Given the description of an element on the screen output the (x, y) to click on. 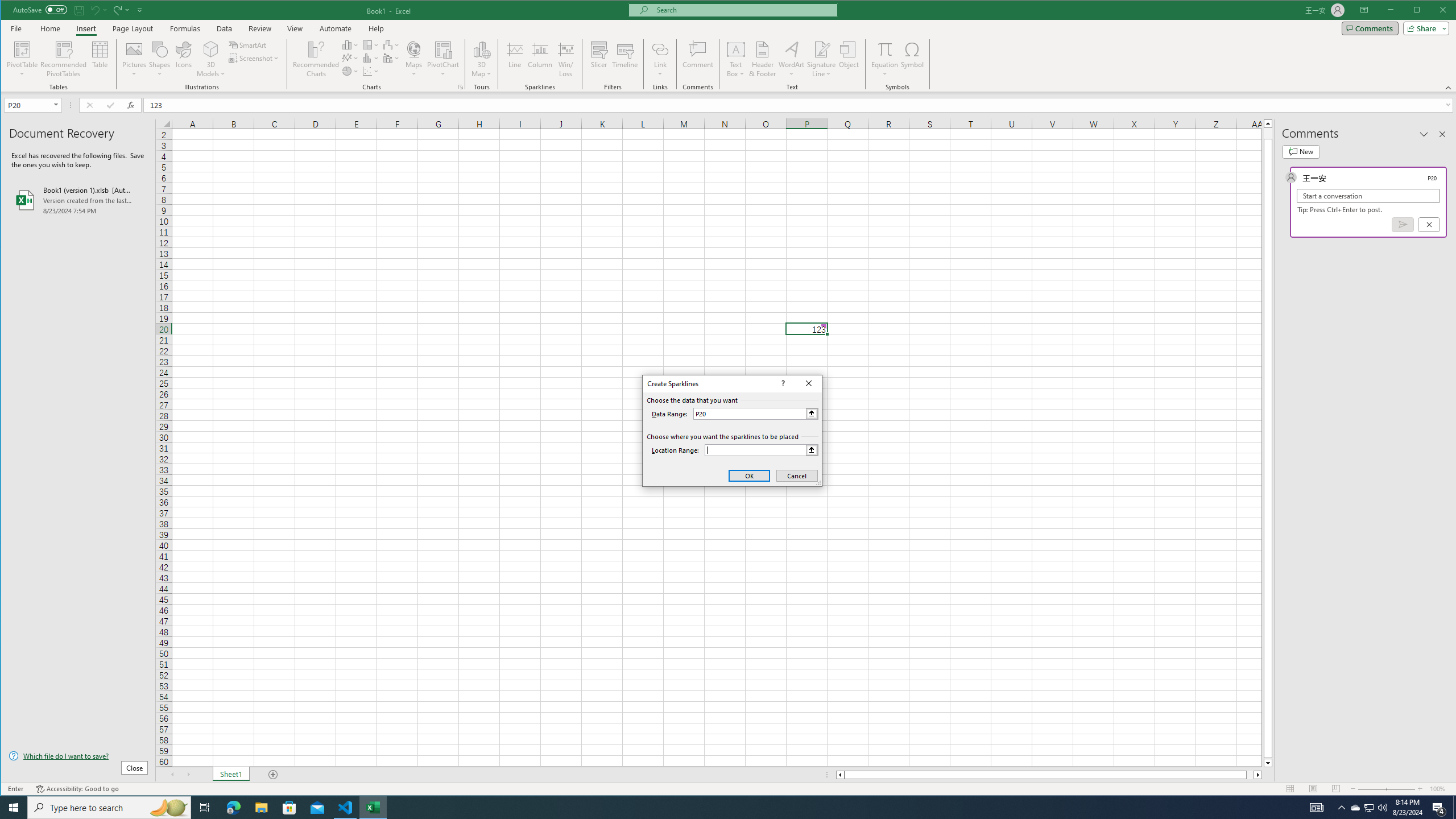
Shapes (159, 59)
3D Models (211, 59)
Pictures (134, 59)
Page up (1267, 132)
File Tab (16, 27)
3D Map (481, 59)
Header & Footer... (762, 59)
Class: MsoCommandBar (728, 45)
Recommended PivotTables (63, 59)
Open (56, 105)
Symbol... (912, 59)
Start (13, 807)
Data Range (755, 413)
